Given the description of an element on the screen output the (x, y) to click on. 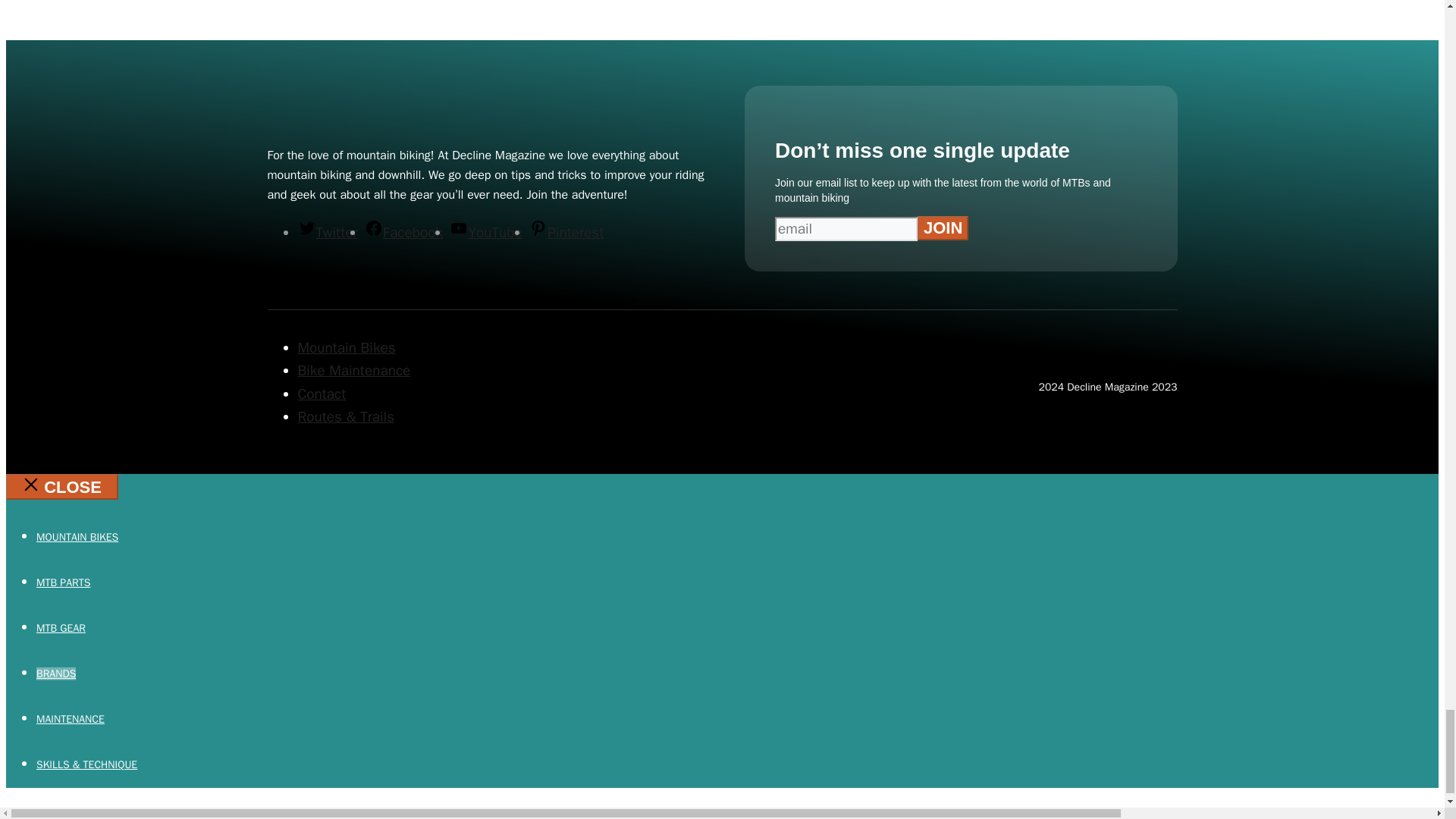
JOIN (942, 228)
